Given the description of an element on the screen output the (x, y) to click on. 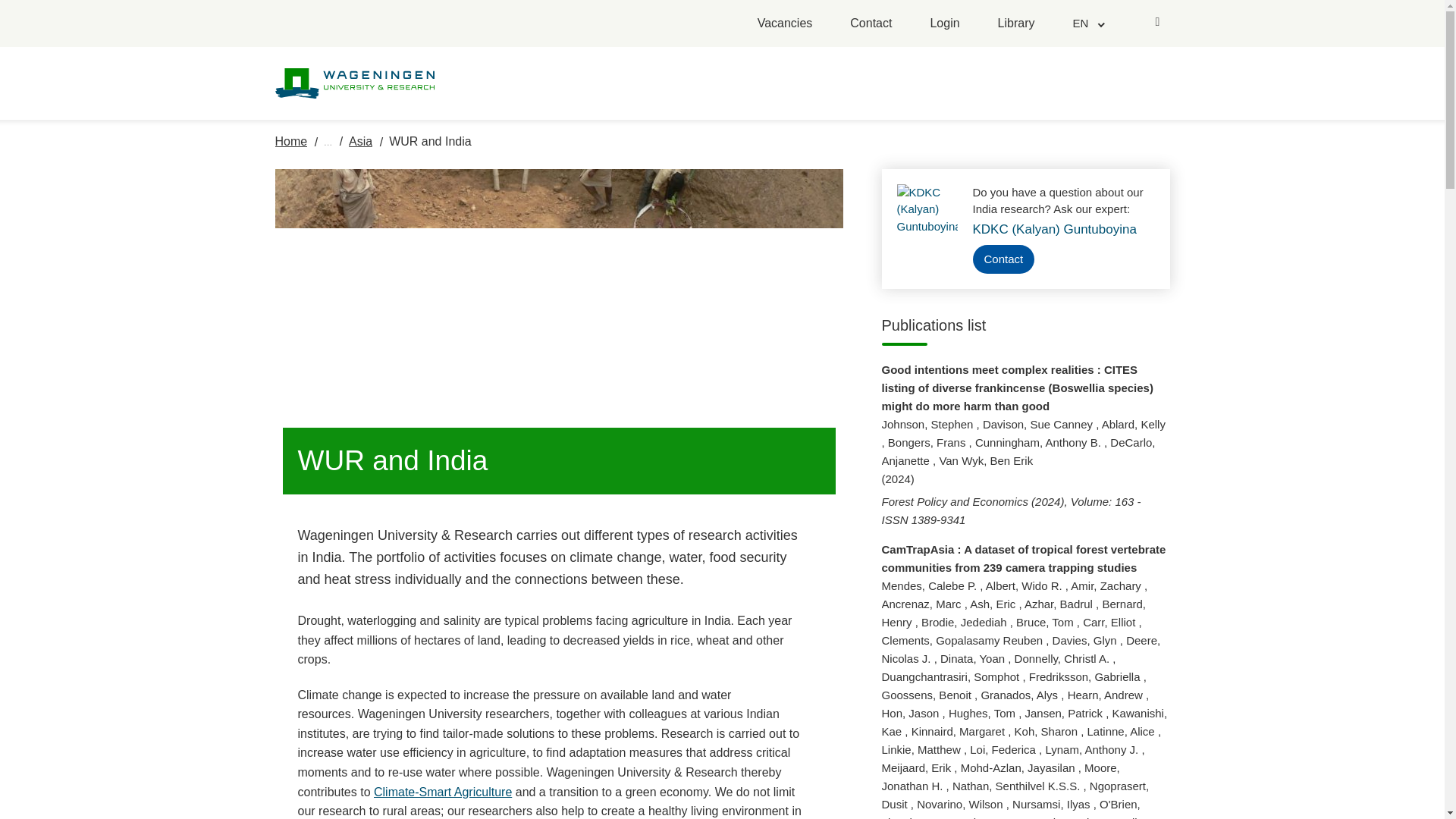
Home (291, 141)
Home (291, 141)
Climate-Smart Agriculture (443, 791)
Library (1016, 23)
Contact (870, 23)
Asia (360, 141)
Vacancies (784, 23)
Vacancies (784, 23)
Library (1016, 23)
Login (944, 23)
Asia (360, 141)
EN (1086, 23)
Contact (870, 23)
Climate-Smart Agriculture (443, 791)
Login (944, 23)
